Given the description of an element on the screen output the (x, y) to click on. 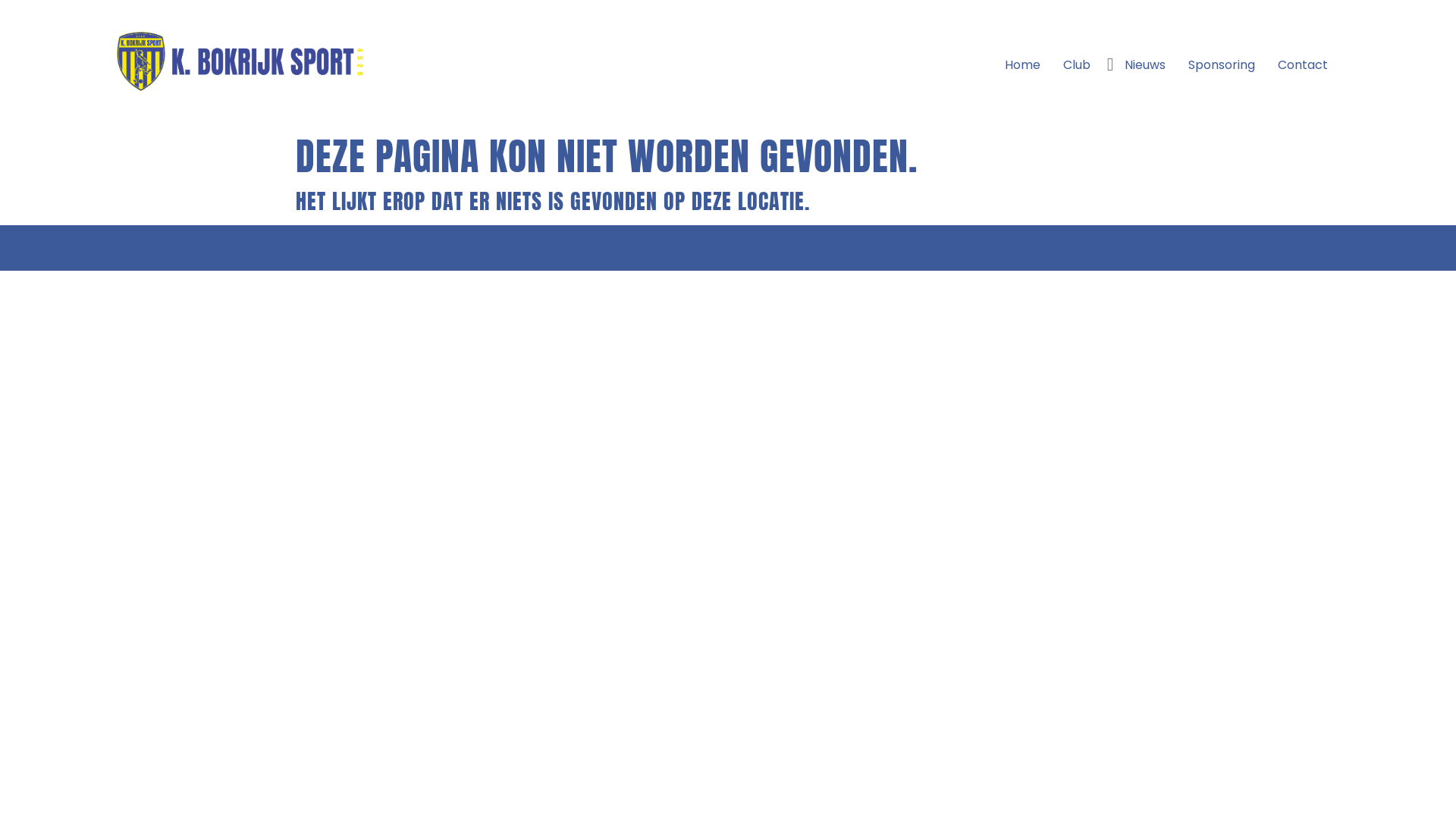
Sponsoring Element type: text (1221, 64)
Home Element type: text (1022, 64)
Nieuws Element type: text (1144, 64)
Contact Element type: text (1302, 64)
Club Element type: text (1076, 64)
